Given the description of an element on the screen output the (x, y) to click on. 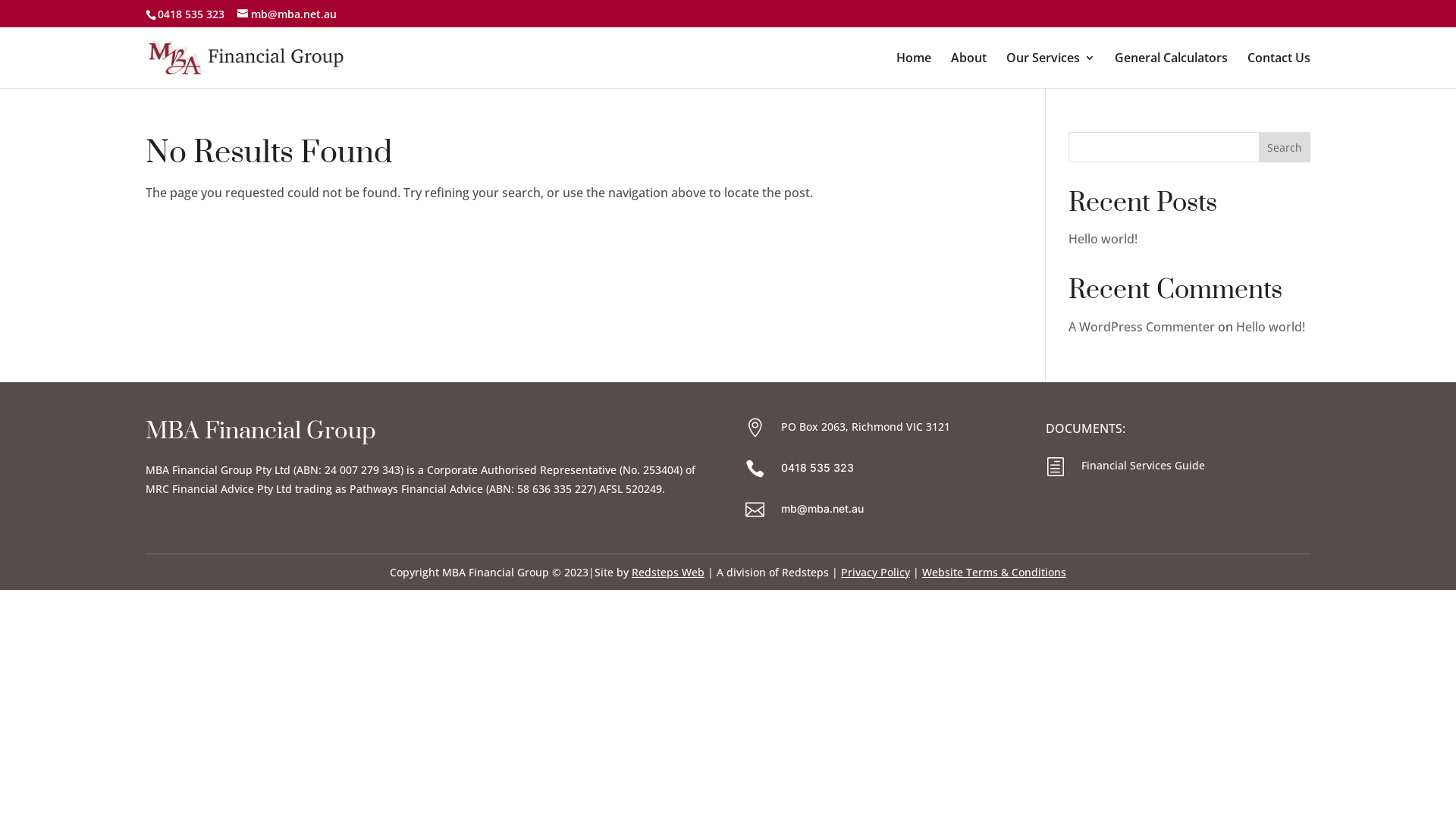
Contact Us Element type: text (1278, 69)
A WordPress Commenter Element type: text (1141, 326)
mb@mba.net.au Element type: text (822, 508)
Hello world! Element type: text (1102, 238)
h Element type: text (1057, 466)
General Calculators Element type: text (1170, 69)
Website Terms & Conditions Element type: text (994, 571)
mb@mba.net.au Element type: text (286, 13)
Hello world! Element type: text (1270, 326)
Financial Services Guide Element type: text (1142, 465)
Our Services Element type: text (1050, 69)
Search Element type: text (1284, 146)
0418 535 323 Element type: text (190, 13)
Privacy Policy Element type: text (875, 571)
0418 535 323 Element type: text (817, 467)
Home Element type: text (913, 69)
About Element type: text (968, 69)
Redsteps Web Element type: text (667, 571)
